Given the description of an element on the screen output the (x, y) to click on. 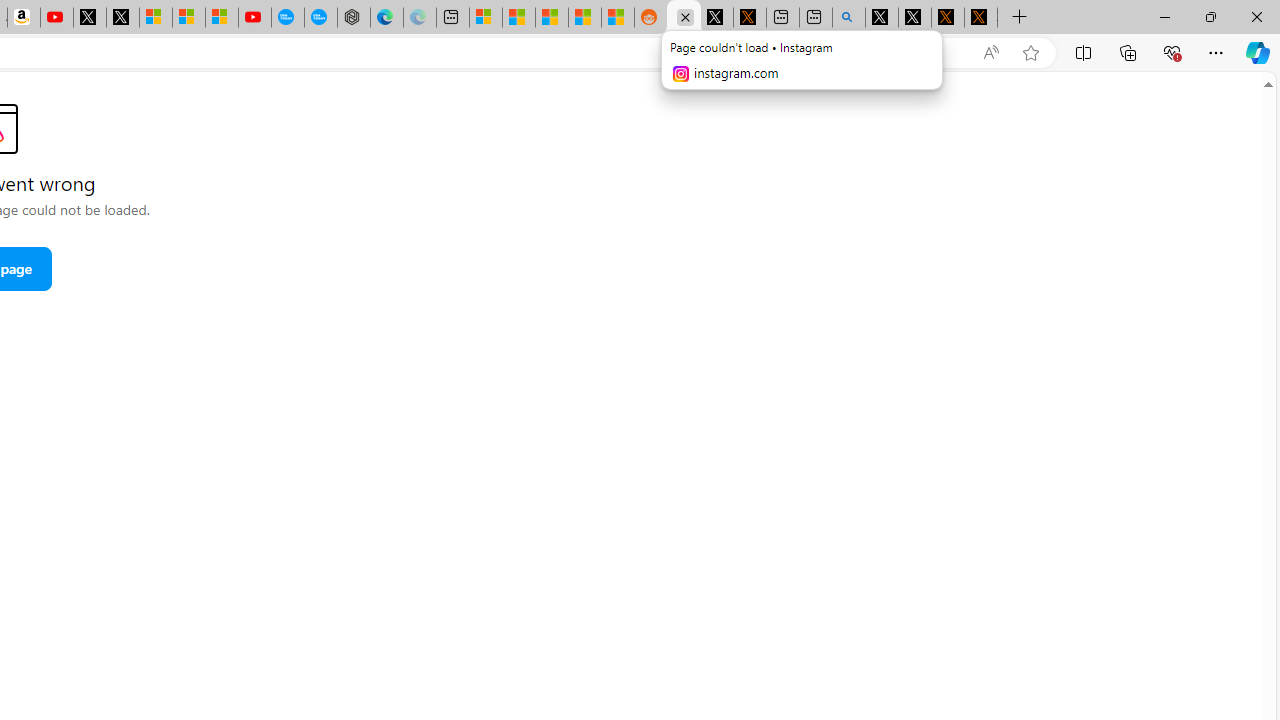
Nordace - Nordace has arrived Hong Kong (353, 17)
Log in to X / X (717, 17)
